Given the description of an element on the screen output the (x, y) to click on. 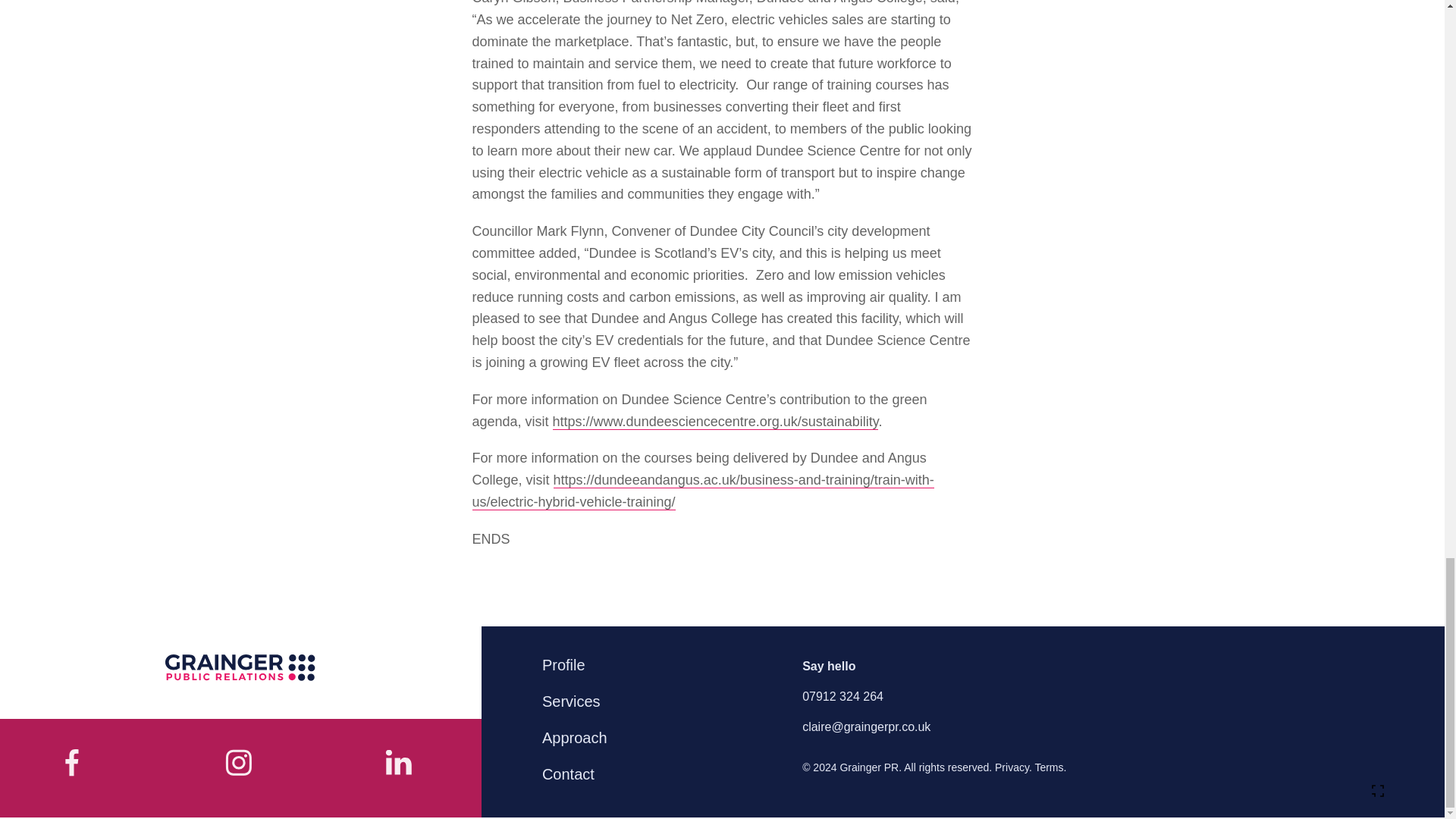
Terms (1047, 767)
Instagram (400, 768)
Approach (574, 737)
Facebook (80, 768)
Grainger PR (239, 668)
Privacy (1011, 767)
Services (571, 701)
Profile (563, 664)
07912 324 264 (842, 696)
Contact (568, 774)
